Given the description of an element on the screen output the (x, y) to click on. 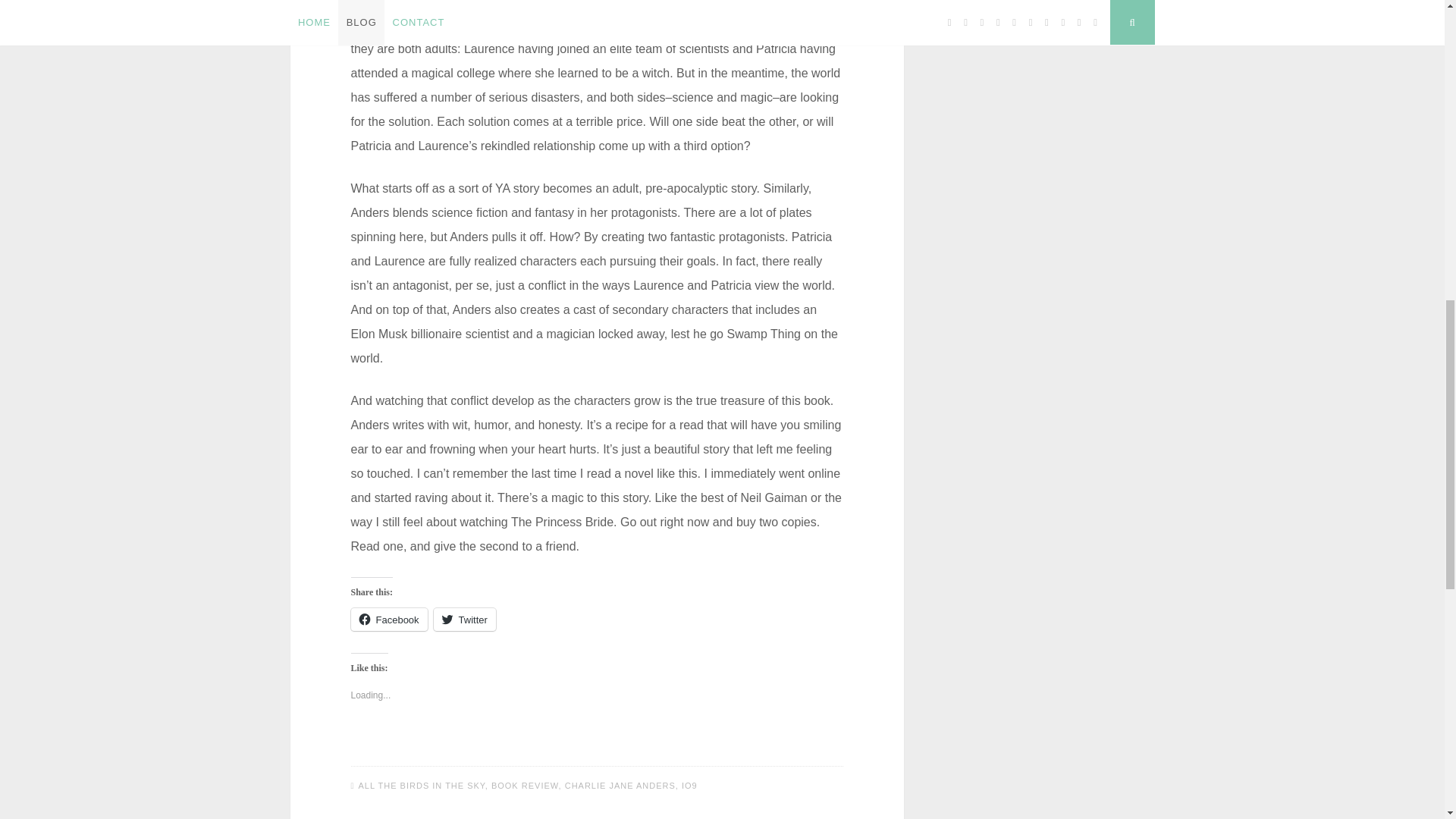
IO9 (689, 785)
Click to share on Facebook (388, 619)
BOOK REVIEW (525, 785)
ALL THE BIRDS IN THE SKY (421, 785)
Twitter (464, 619)
Click to share on Twitter (464, 619)
Facebook (388, 619)
Like or Reblog (596, 744)
CHARLIE JANE ANDERS (619, 785)
